Given the description of an element on the screen output the (x, y) to click on. 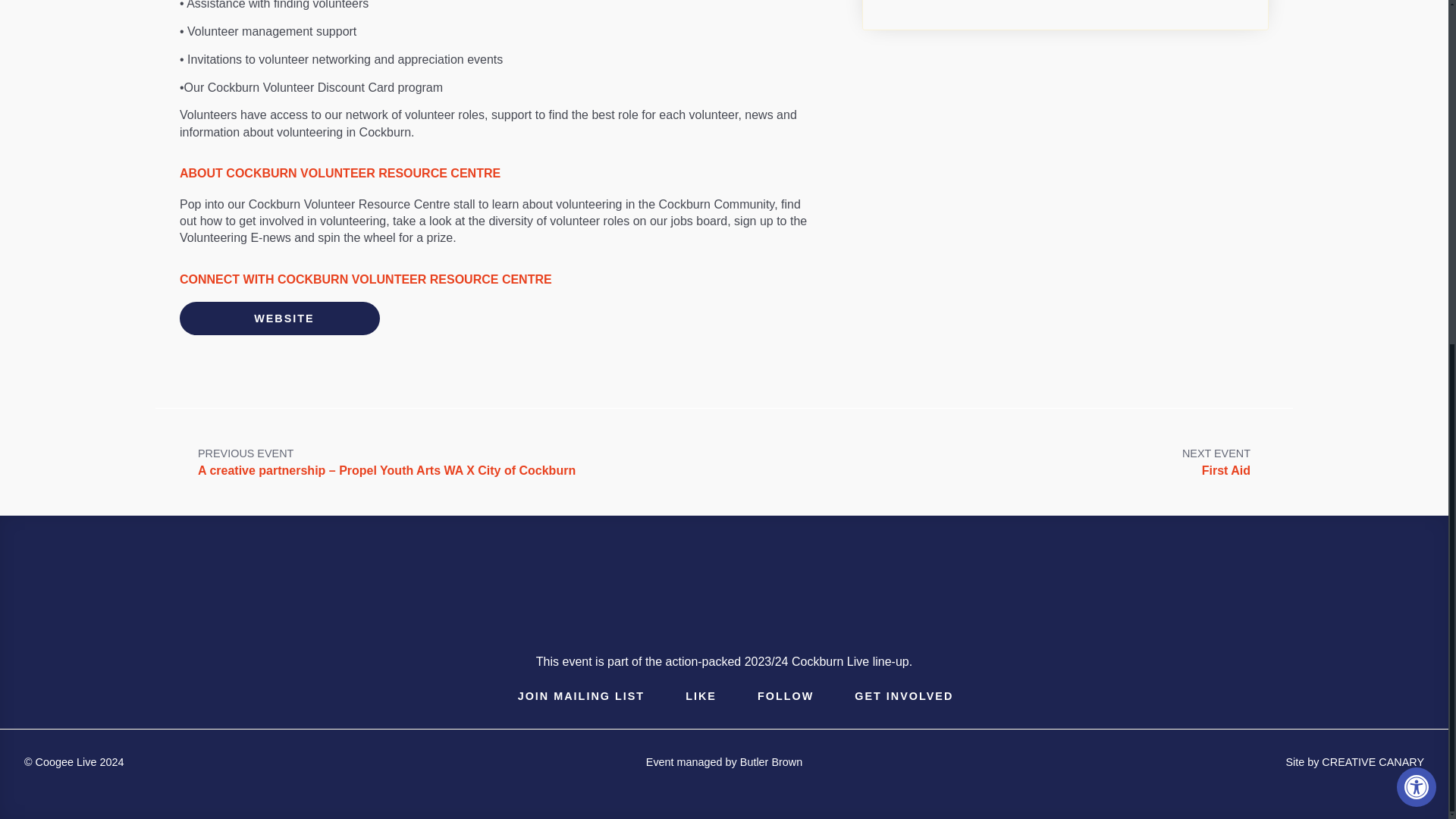
GET INVOLVED (892, 695)
LIKE (689, 695)
Accessibility Tools (1225, 462)
WEBSITE (1415, 197)
Site by CREATIVE CANARY (279, 318)
JOIN MAILING LIST (1354, 761)
Event managed by Butler Brown (570, 695)
FOLLOW (724, 761)
Open toolbar (774, 695)
